Given the description of an element on the screen output the (x, y) to click on. 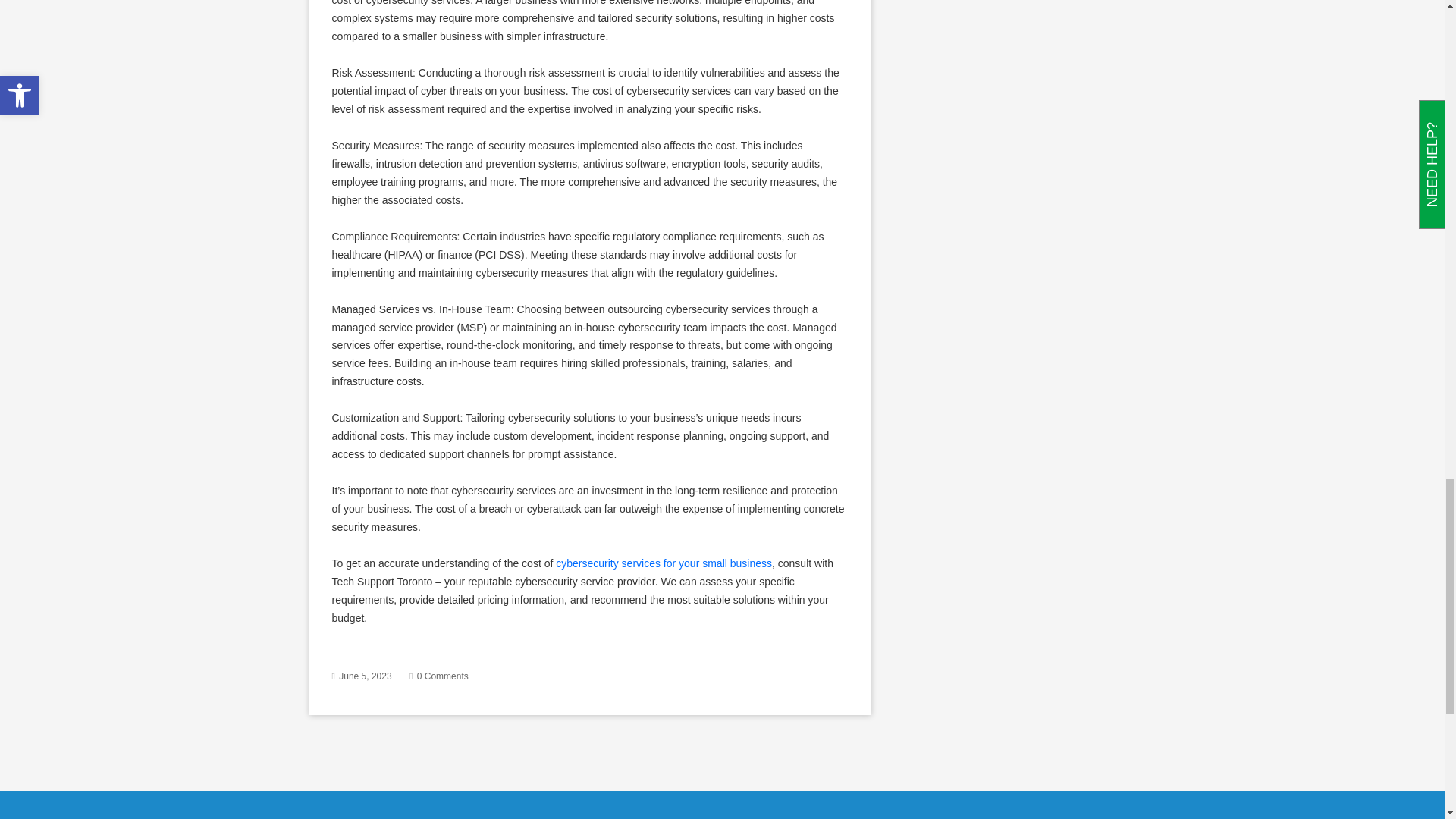
cybersecurity services for your small business (663, 563)
0 Comments (442, 675)
